Given the description of an element on the screen output the (x, y) to click on. 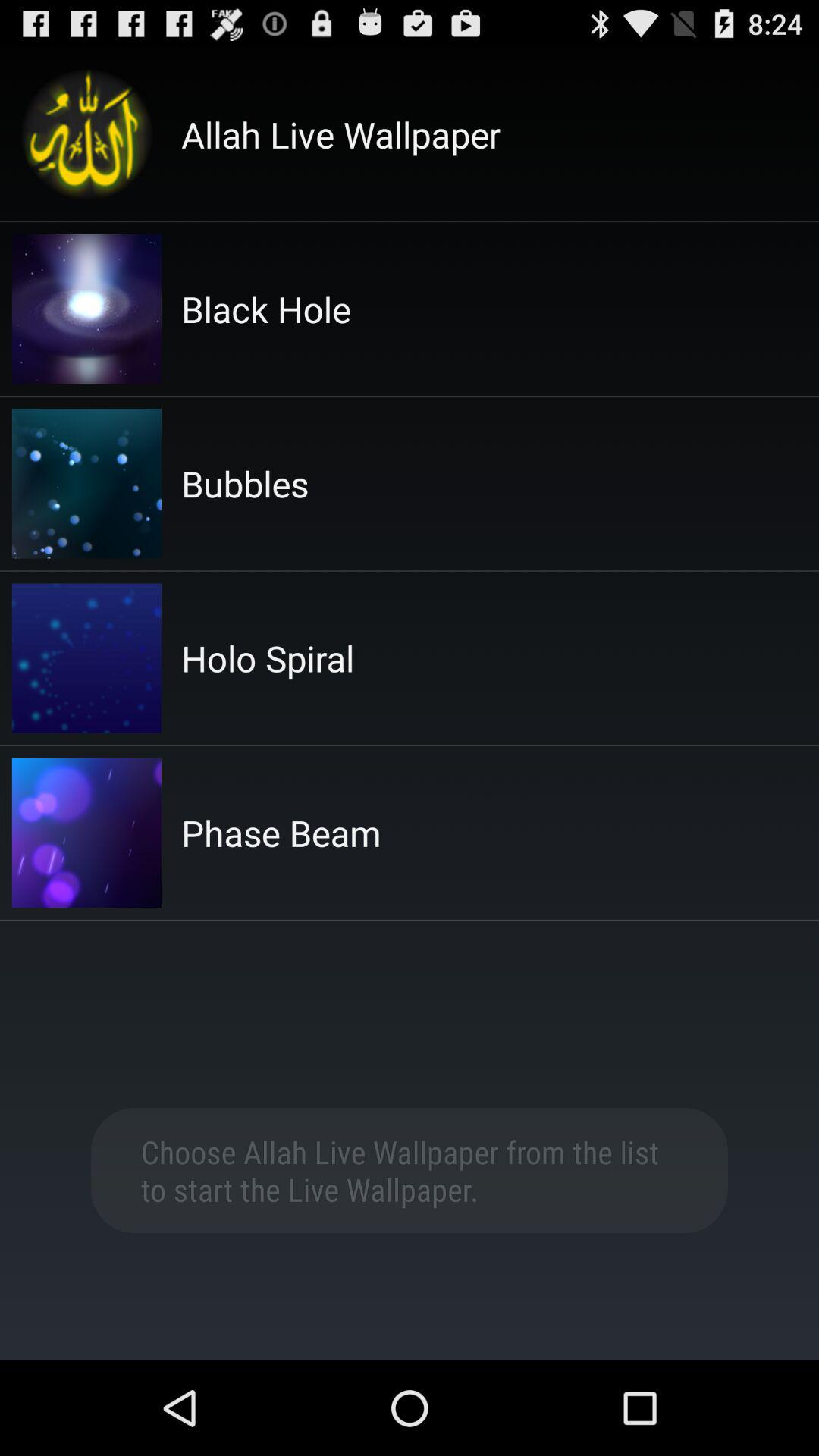
tap the black hole item (265, 308)
